Given the description of an element on the screen output the (x, y) to click on. 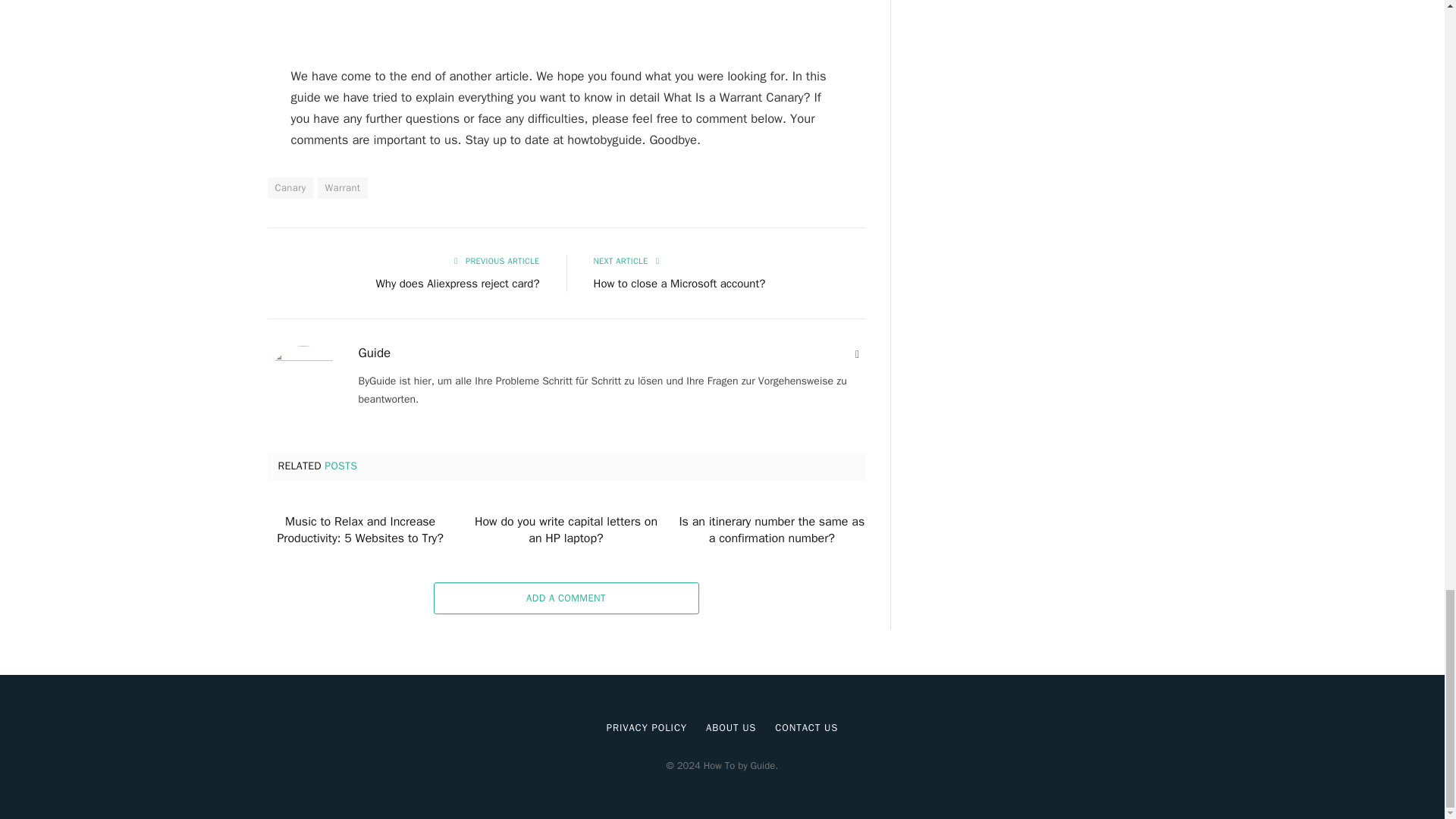
Website (856, 354)
Guide (374, 353)
How to close a Microsoft account? (678, 283)
Posts by Guide (374, 353)
Warrant (342, 188)
Why does Aliexpress reject card? (457, 283)
Canary (289, 188)
